Given the description of an element on the screen output the (x, y) to click on. 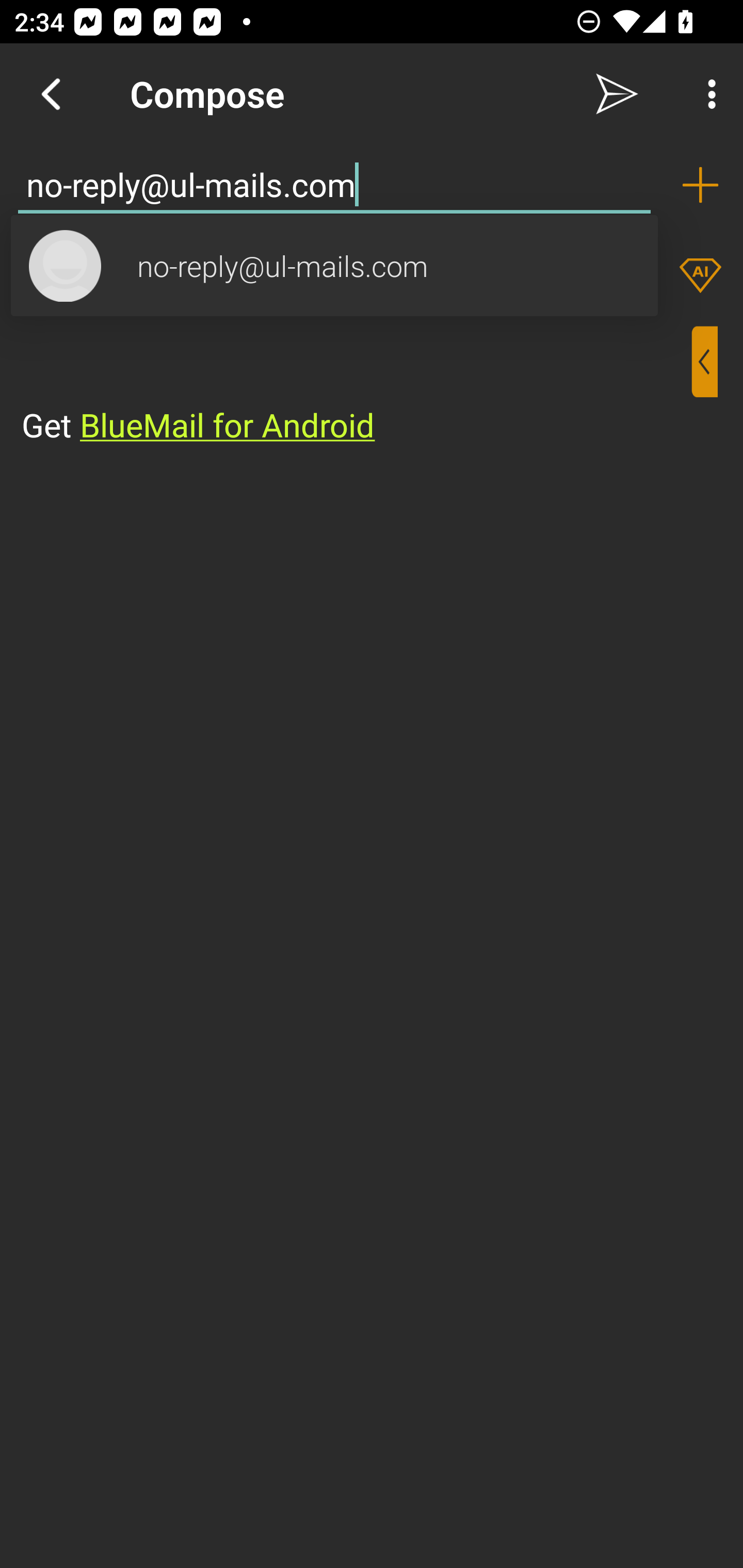
Navigate up (50, 93)
Send (616, 93)
More Options (706, 93)
 no-reply@ul-mails.com (334, 184)
Add recipient (To) (699, 184)
Subject (302, 266)


⁣Get BlueMail for Android ​ (355, 386)
